Given the description of an element on the screen output the (x, y) to click on. 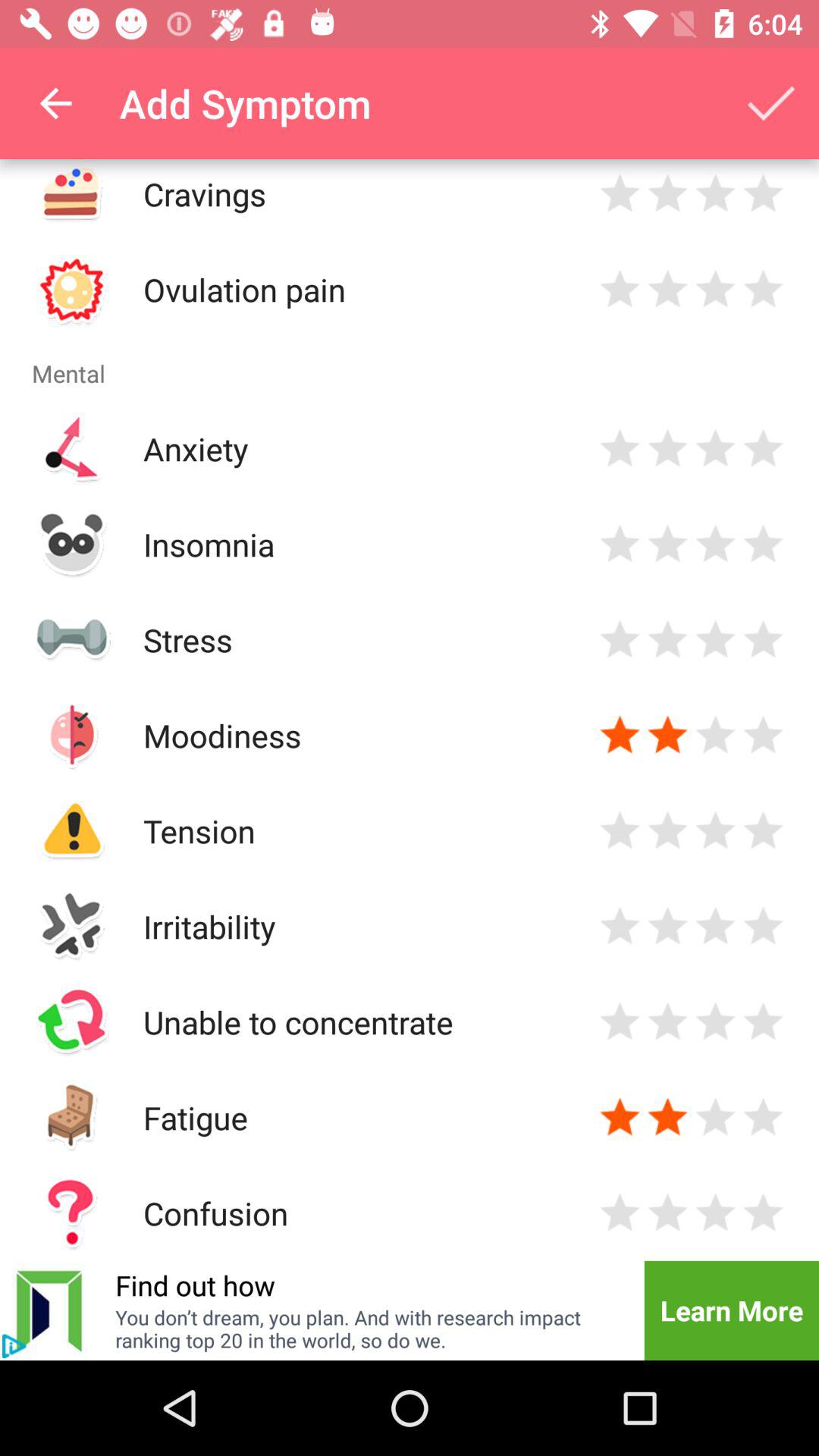
3 star option (715, 926)
